Given the description of an element on the screen output the (x, y) to click on. 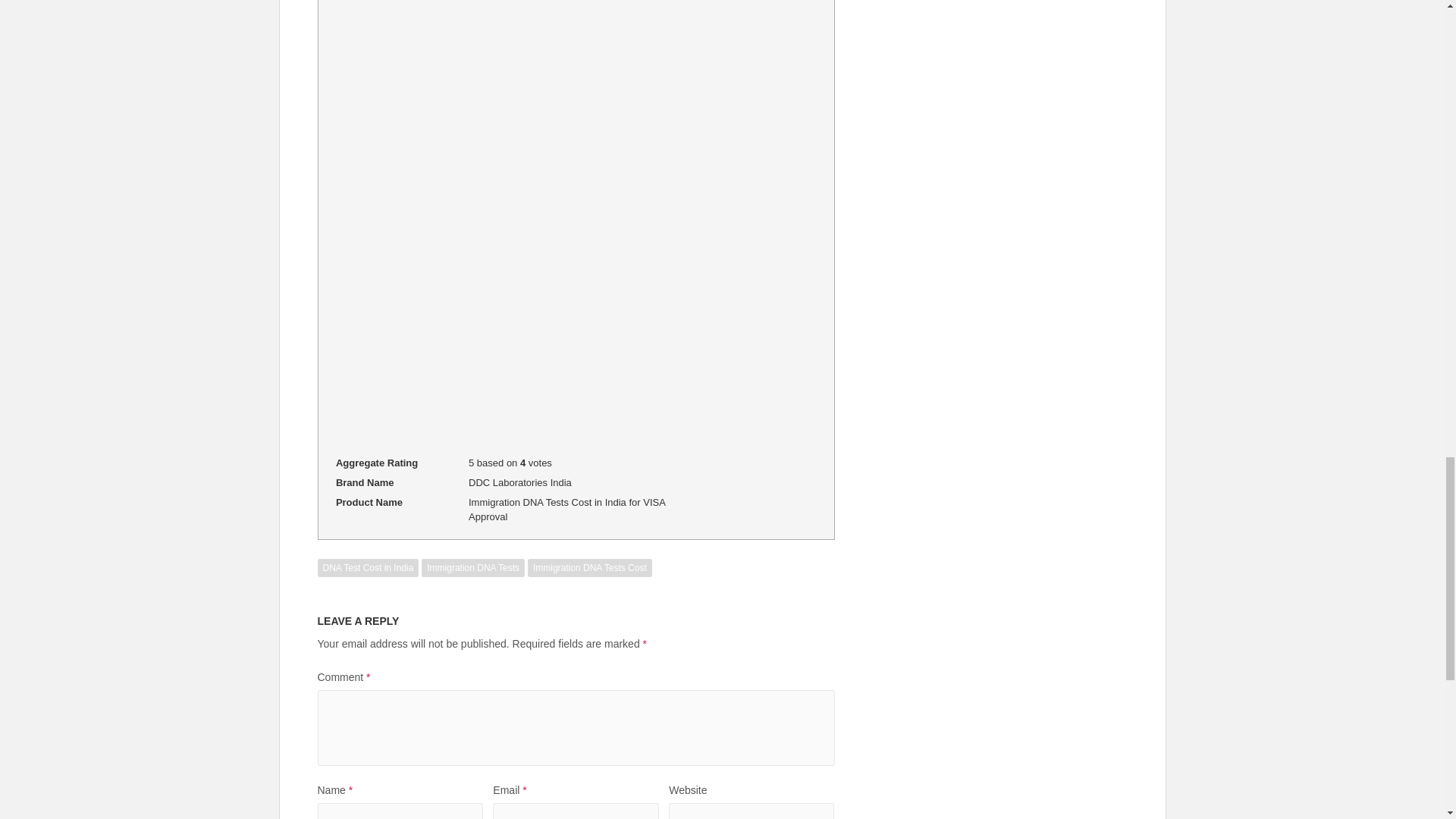
Immigration DNA Tests Cost (589, 566)
Immigration DNA Tests (473, 566)
DNA Test Cost in India (368, 566)
